Given the description of an element on the screen output the (x, y) to click on. 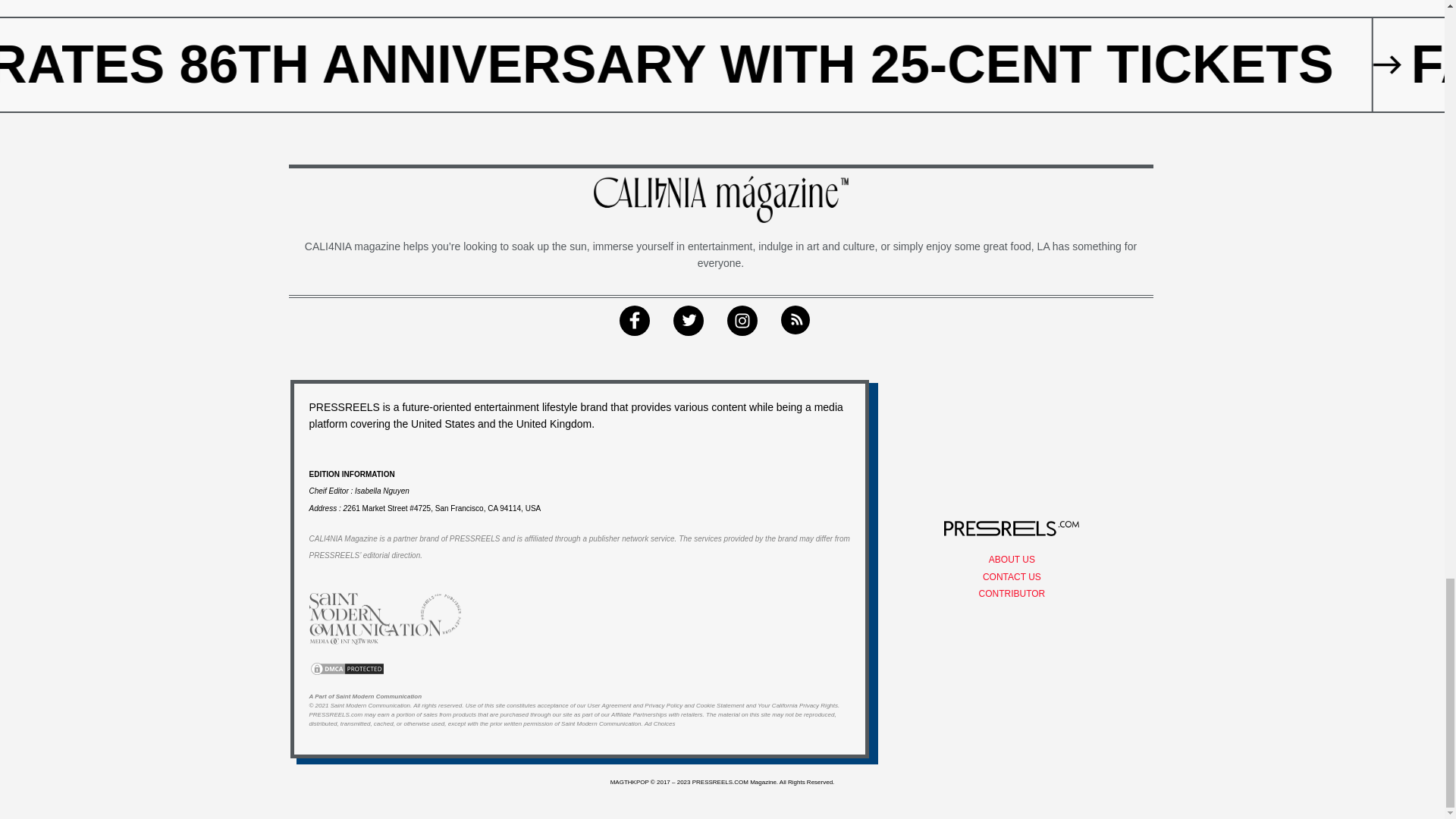
Saint Modern Communication (370, 705)
ABOUT US (1011, 559)
DMCA.com Protection Status (346, 667)
SINKHOLE UNLEASHES CONCRETE RAIN ON GLENDALE FREEWAY (687, 64)
